Given the description of an element on the screen output the (x, y) to click on. 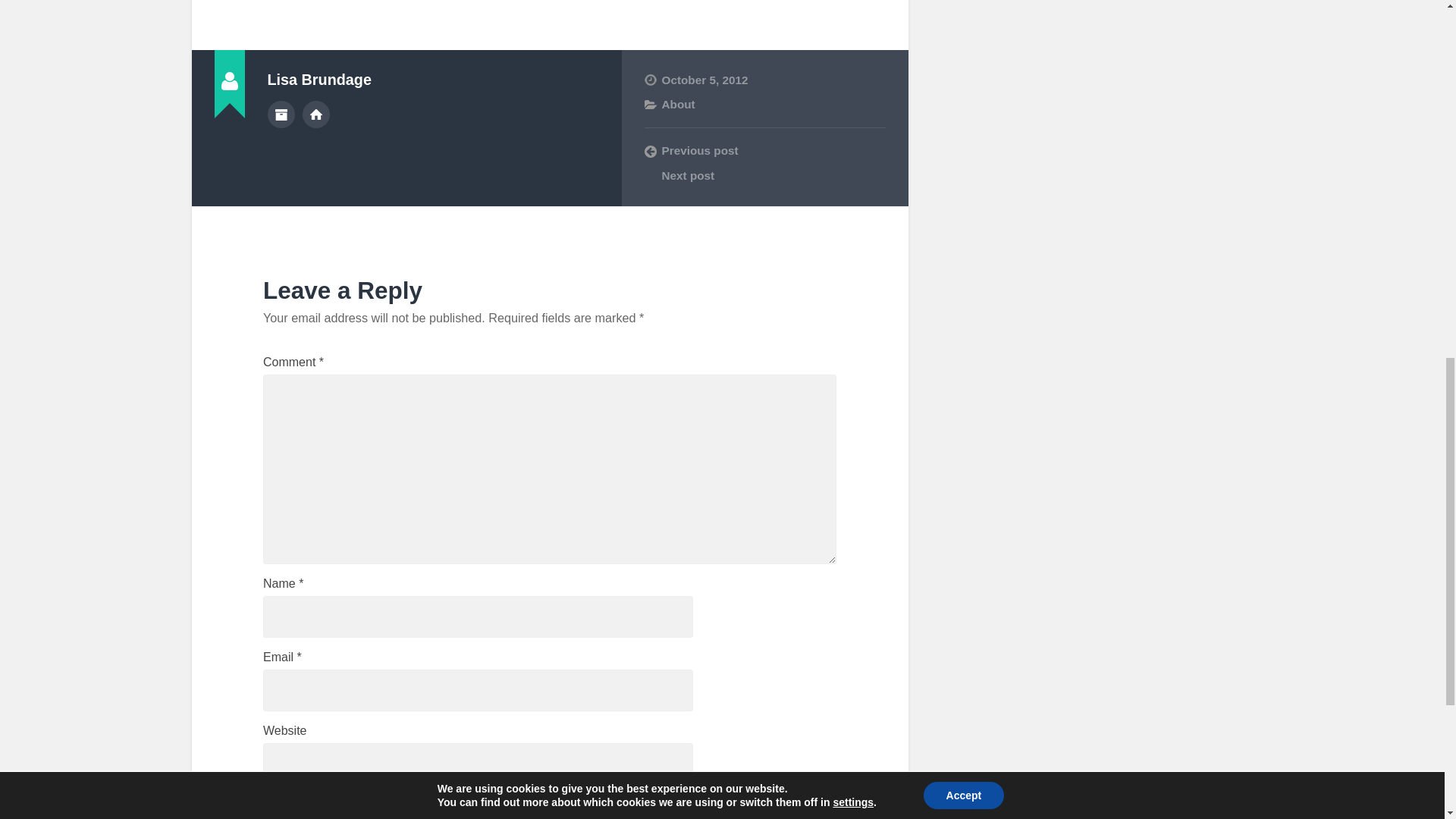
Next post (765, 175)
yes (271, 805)
Author website (316, 113)
Author archive (280, 113)
About (677, 103)
Previous post (765, 150)
